Given the description of an element on the screen output the (x, y) to click on. 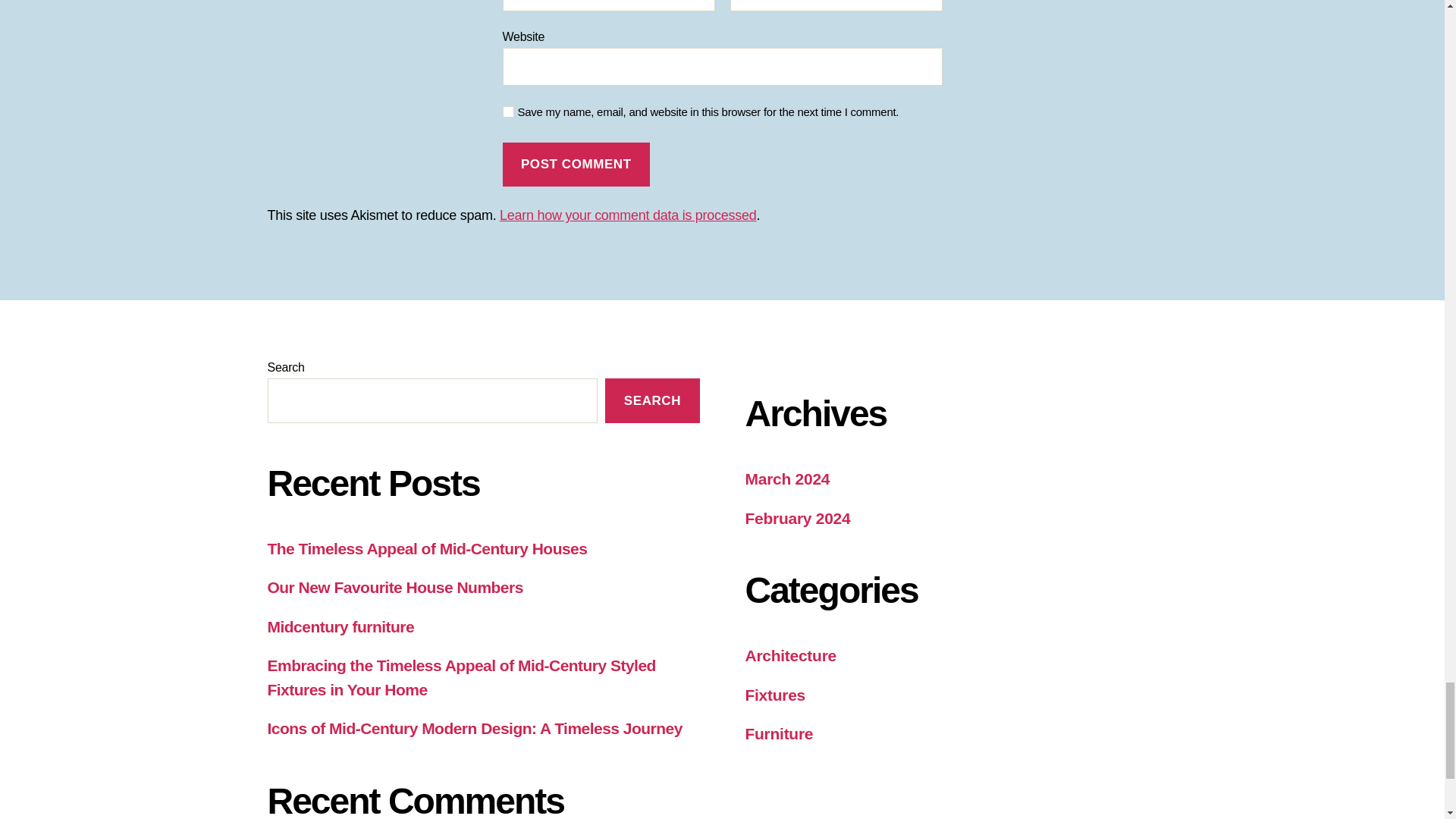
Architecture (789, 655)
February 2024 (797, 518)
The Timeless Appeal of Mid-Century Houses (426, 548)
Furniture (778, 733)
Midcentury furniture (339, 626)
Our New Favourite House Numbers (394, 587)
SEARCH (651, 400)
March 2024 (786, 478)
Post Comment (575, 164)
yes (507, 111)
Post Comment (575, 164)
Fixtures (774, 694)
Learn how your comment data is processed (627, 215)
Icons of Mid-Century Modern Design: A Timeless Journey (473, 728)
